Given the description of an element on the screen output the (x, y) to click on. 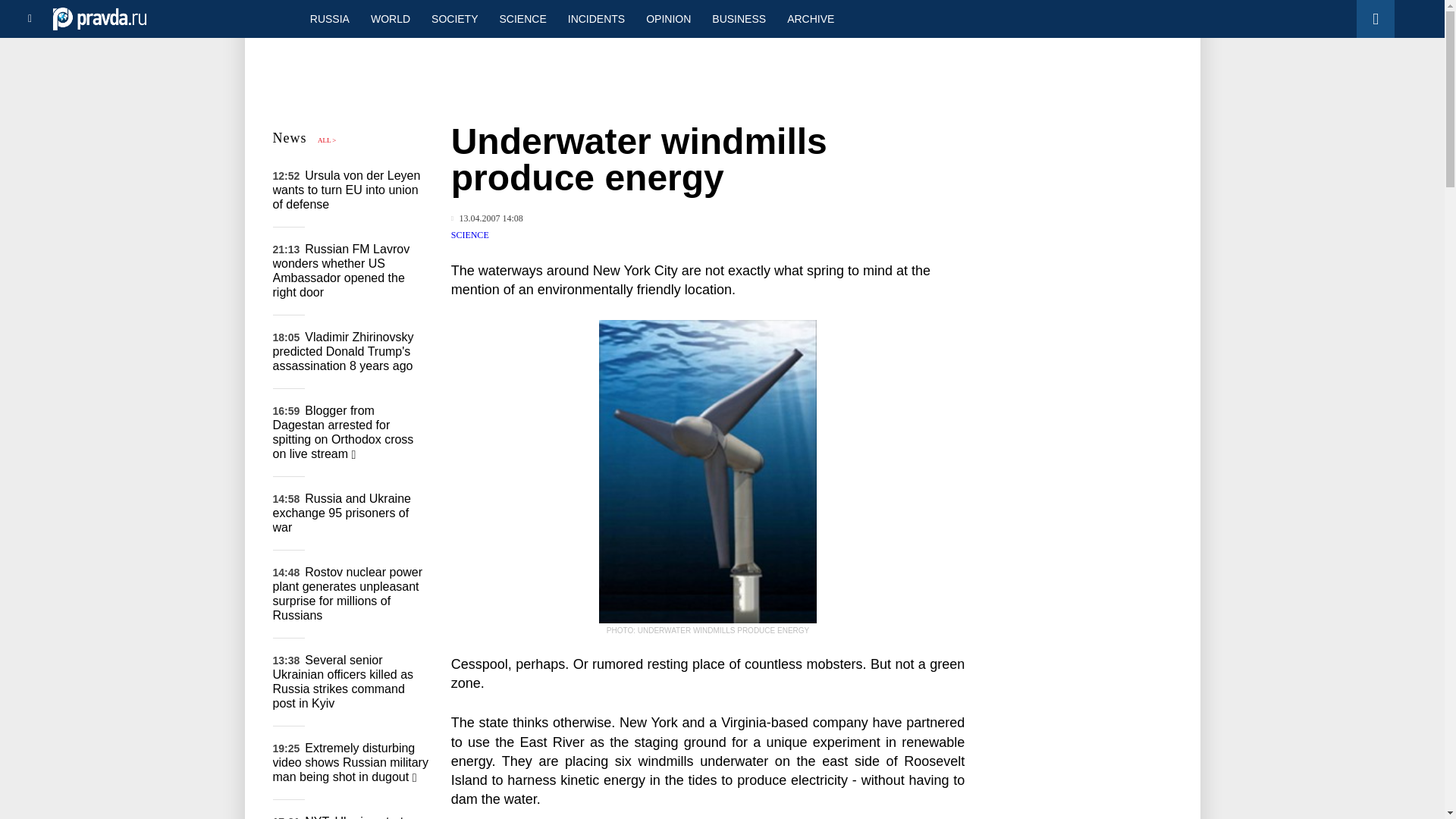
OPINION (667, 18)
SCIENCE (470, 235)
INCIDENTS (595, 18)
WORLD (389, 18)
RUSSIA (329, 18)
Published (486, 218)
ARCHIVE (810, 18)
SOCIETY (453, 18)
SCIENCE (523, 18)
